Given the description of an element on the screen output the (x, y) to click on. 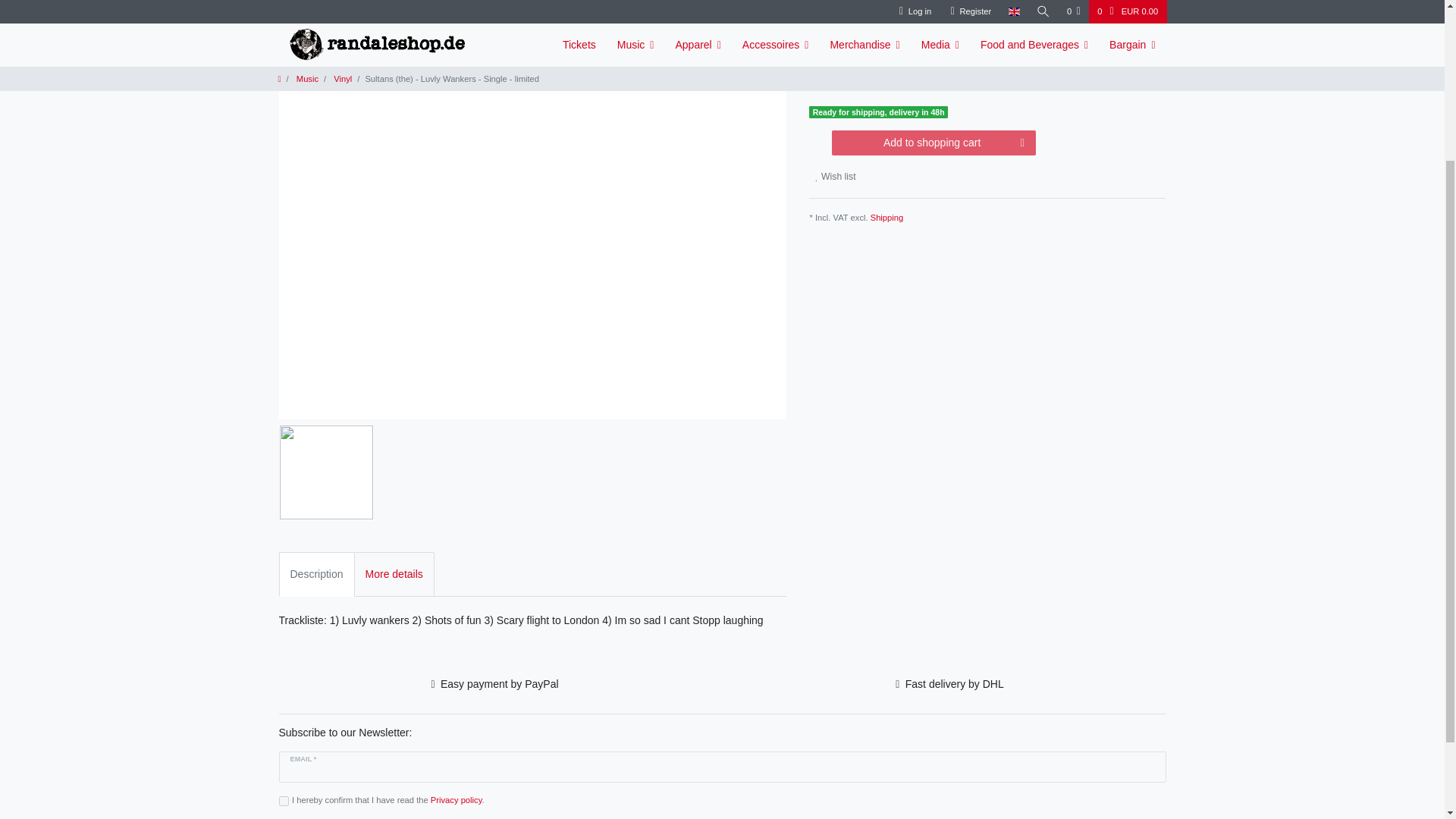
Shipping (887, 216)
on (283, 800)
